Given the description of an element on the screen output the (x, y) to click on. 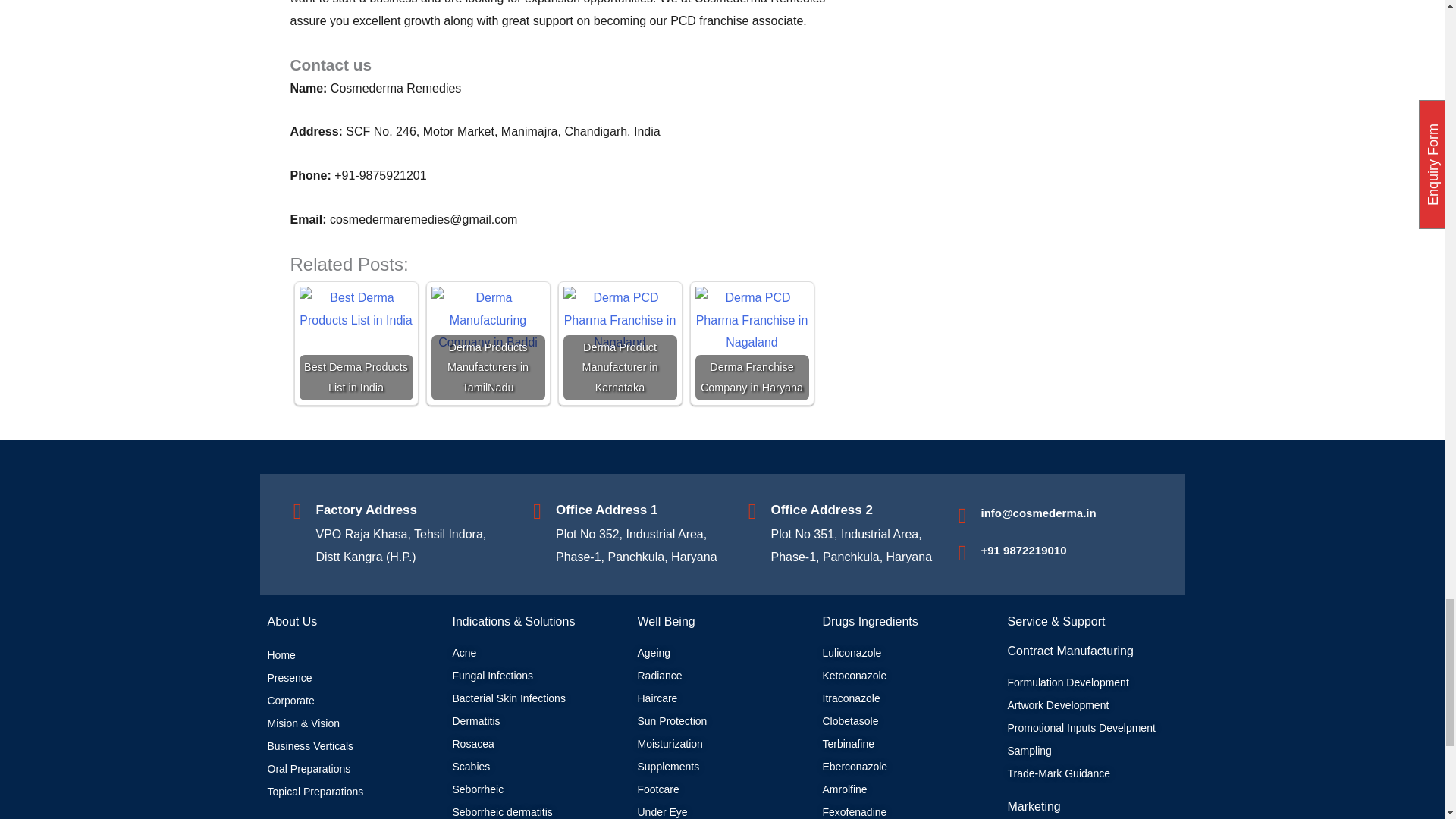
Derma Product Manufacturer in Karnataka (619, 319)
Derma Products Manufacturers in TamilNadu (487, 319)
Best Derma Products List in India (355, 308)
Derma Franchise Company in Haryana (751, 319)
